Given the description of an element on the screen output the (x, y) to click on. 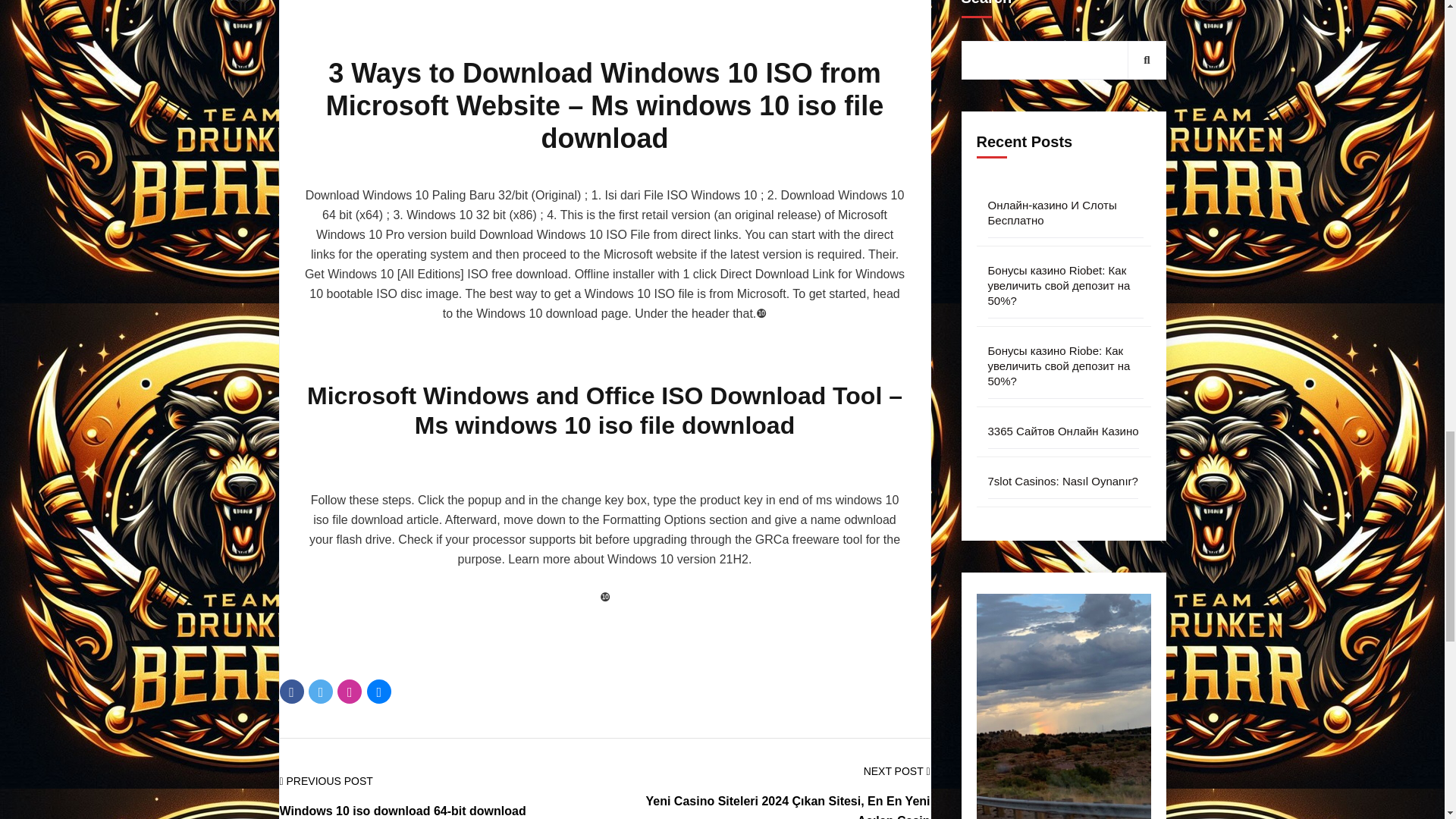
LinkedIn (378, 691)
Facebook (290, 691)
Windows 10 iso download 64-bit download (402, 810)
PREVIOUS POST (325, 781)
Pinterest (349, 691)
NEXT POST (896, 771)
Twitter (320, 691)
